Given the description of an element on the screen output the (x, y) to click on. 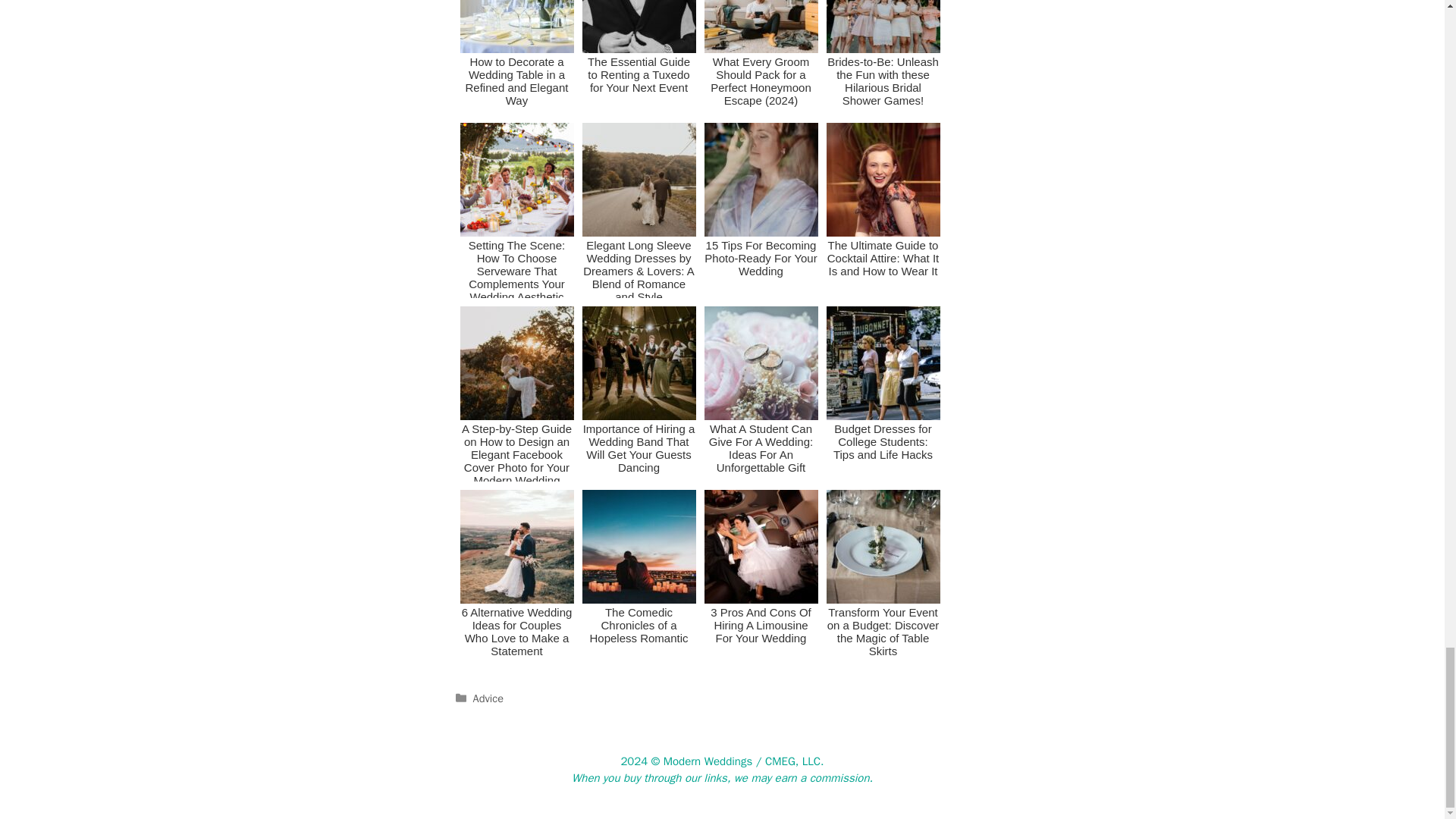
How to Decorate a Wedding Table in a Refined and Elegant Way (516, 57)
The Essential Guide to Renting a Tuxedo for Your Next Event (639, 57)
